Given the description of an element on the screen output the (x, y) to click on. 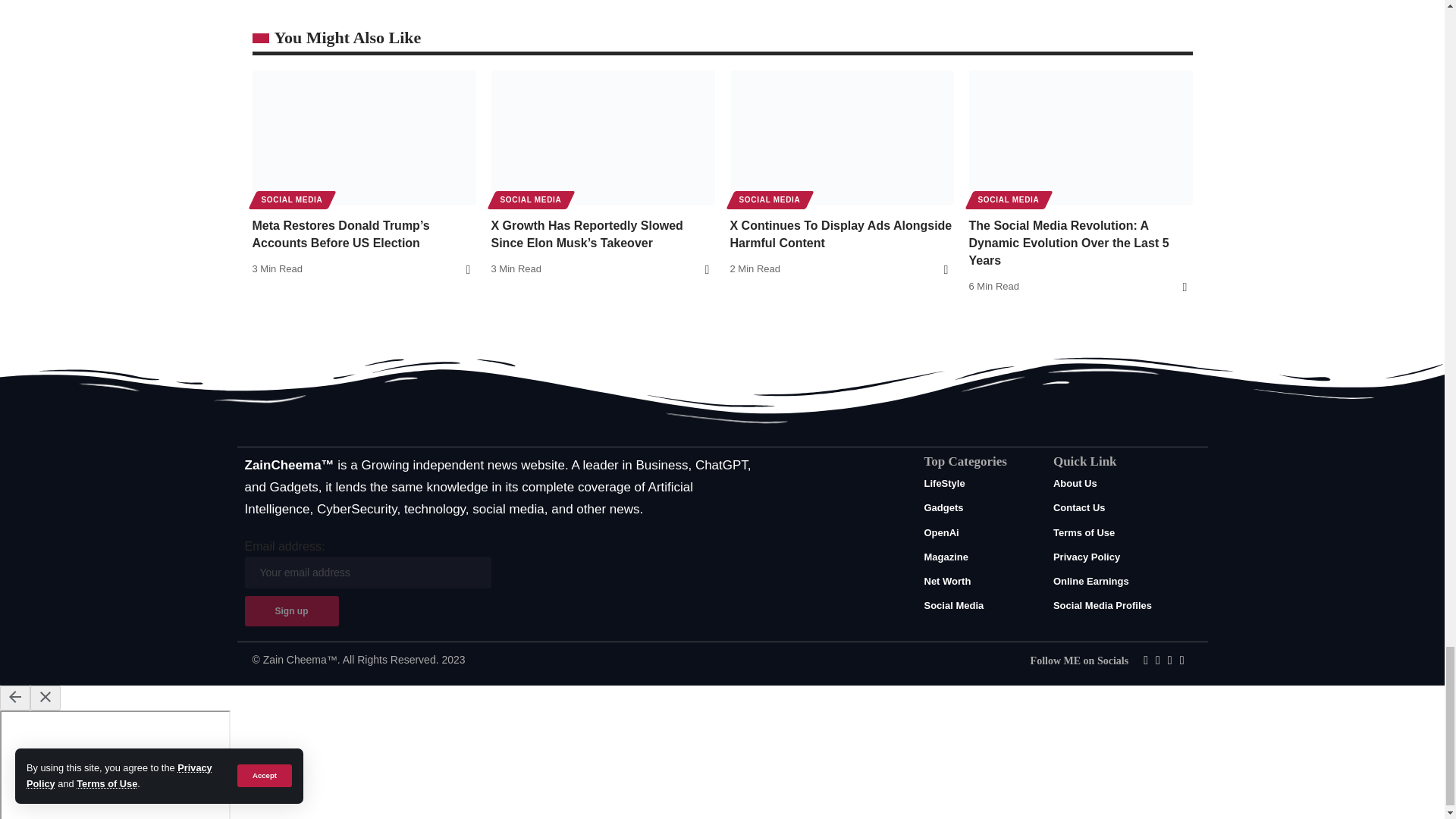
Sign up (290, 611)
